Given the description of an element on the screen output the (x, y) to click on. 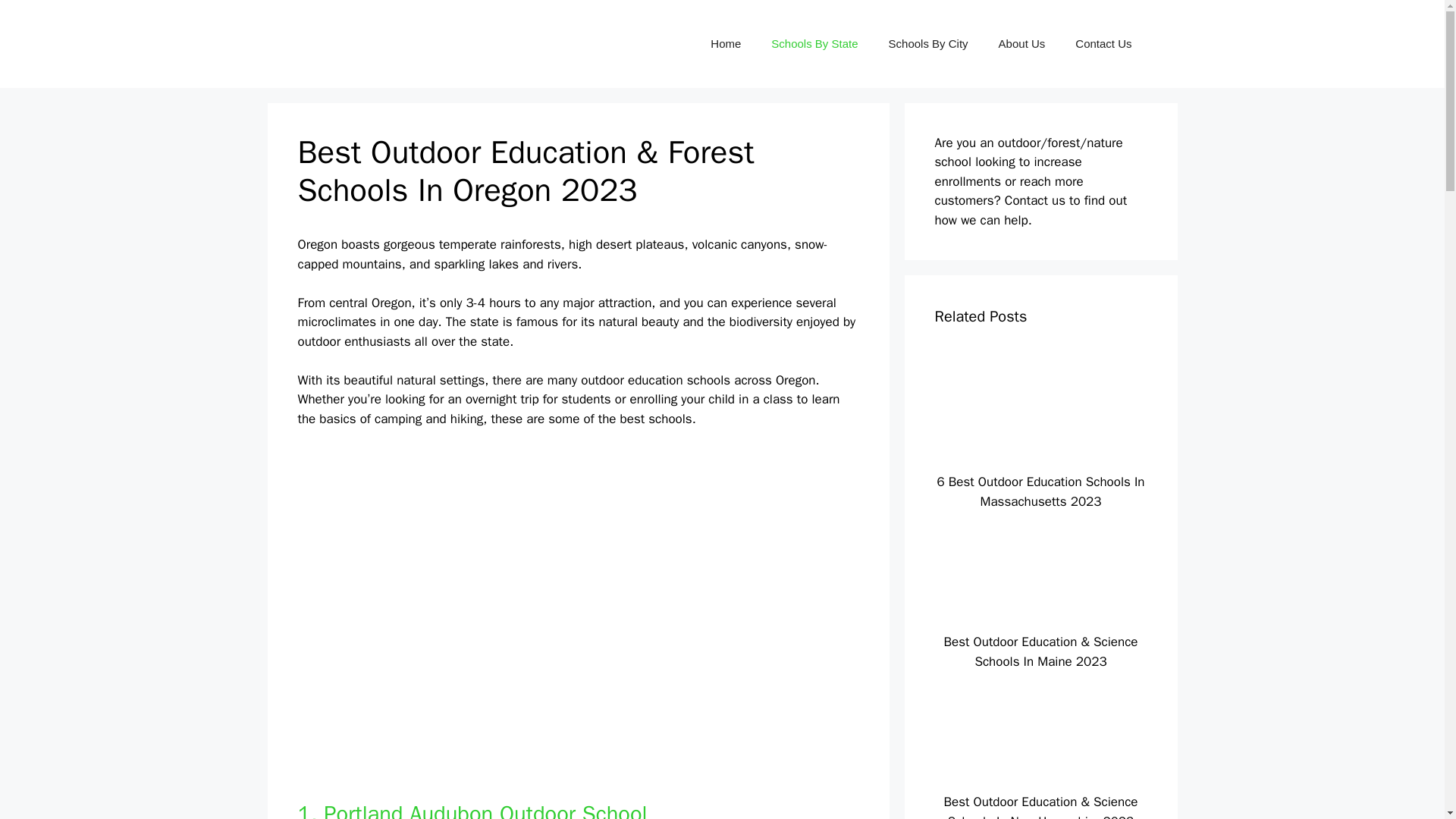
Contact Us (1103, 43)
Portland Audubon Outdoor School (484, 809)
Schools By City (928, 43)
About Us (1022, 43)
Schools By State (813, 43)
Home (725, 43)
